Given the description of an element on the screen output the (x, y) to click on. 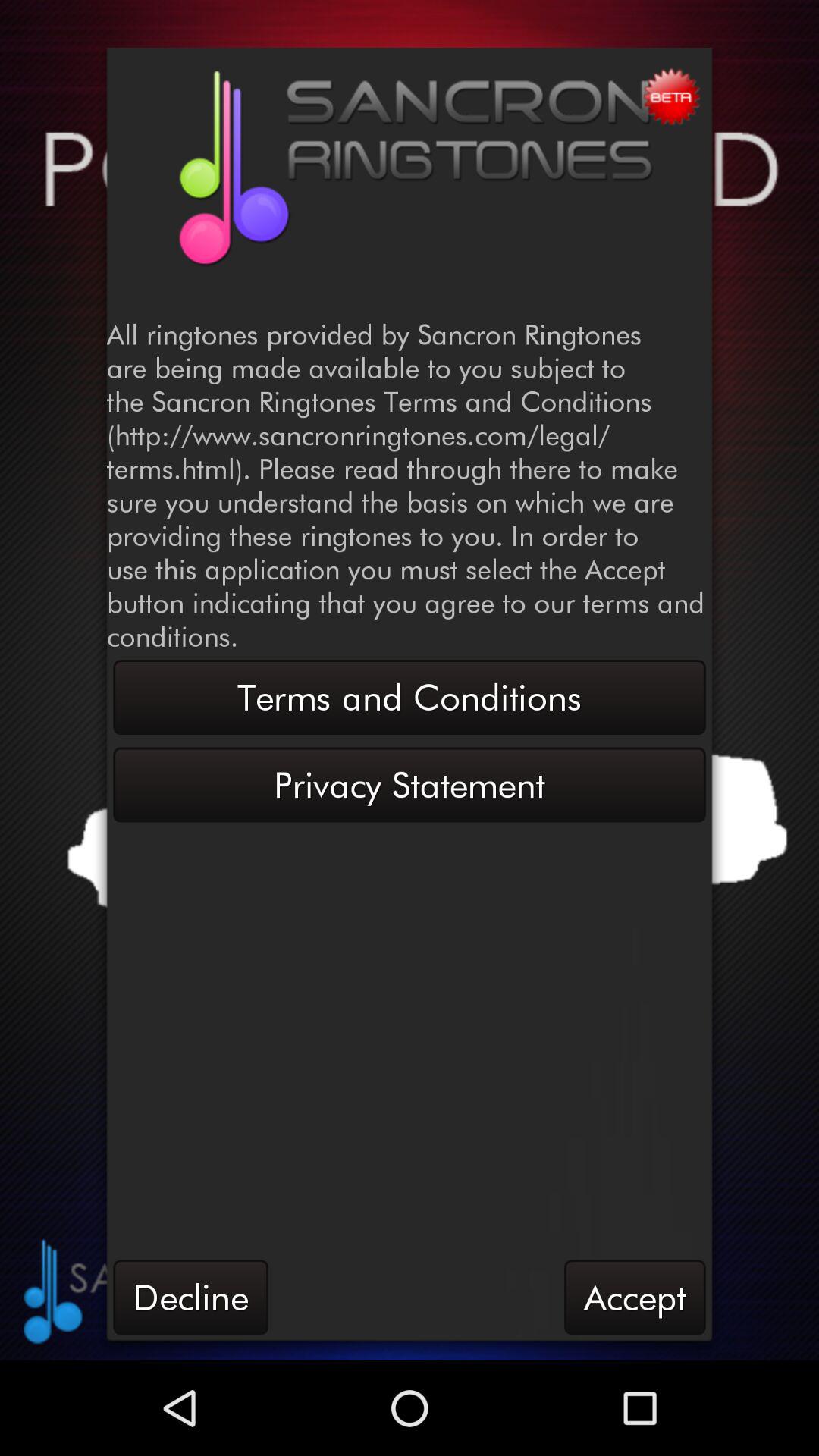
turn on item to the right of the decline icon (634, 1296)
